Given the description of an element on the screen output the (x, y) to click on. 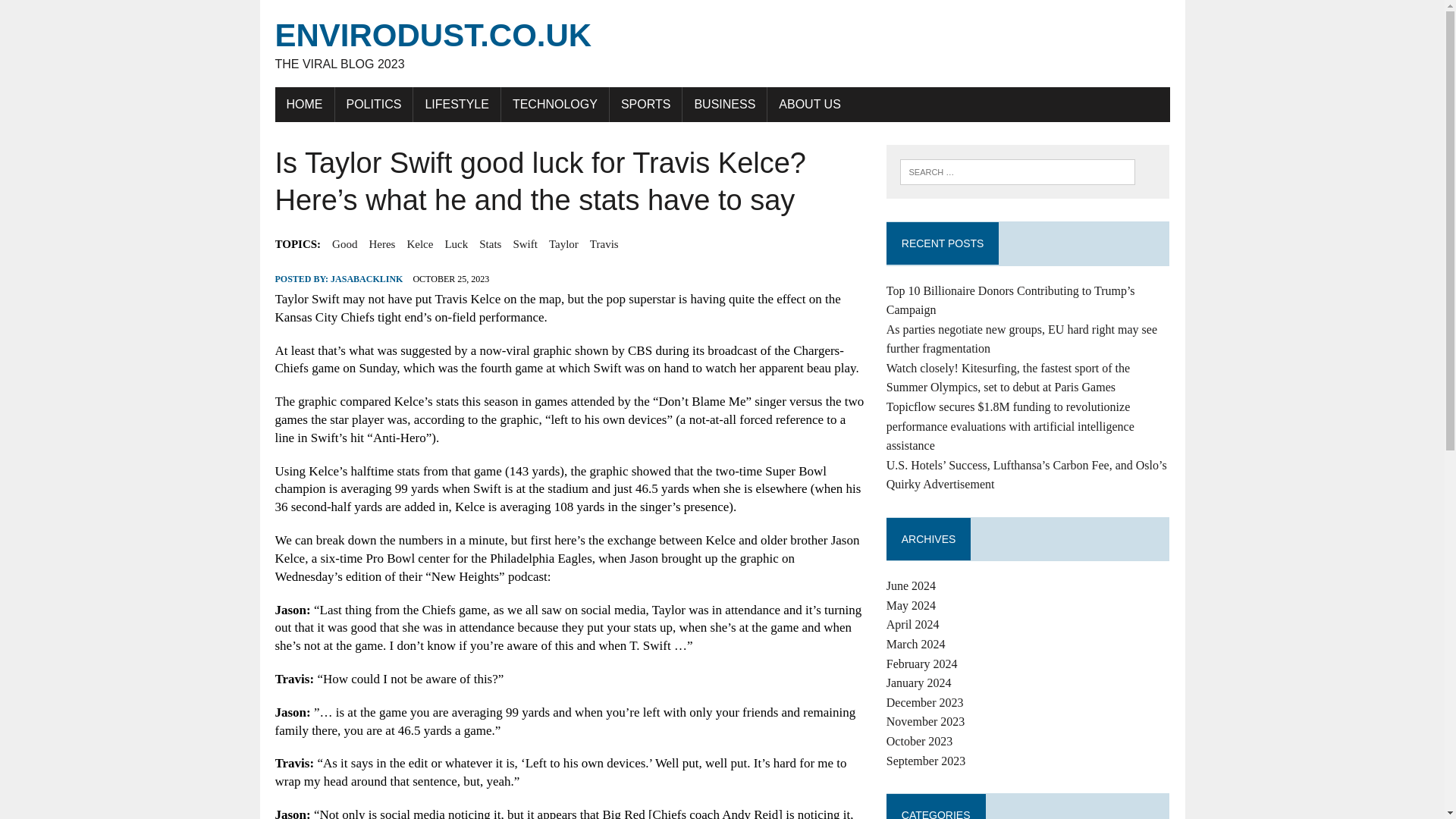
HOME (304, 104)
Travis (603, 244)
Search (75, 14)
POLITICS (373, 104)
Heres (381, 244)
SPORTS (646, 104)
LIFESTYLE (456, 104)
Good (343, 244)
Stats (489, 244)
